Given the description of an element on the screen output the (x, y) to click on. 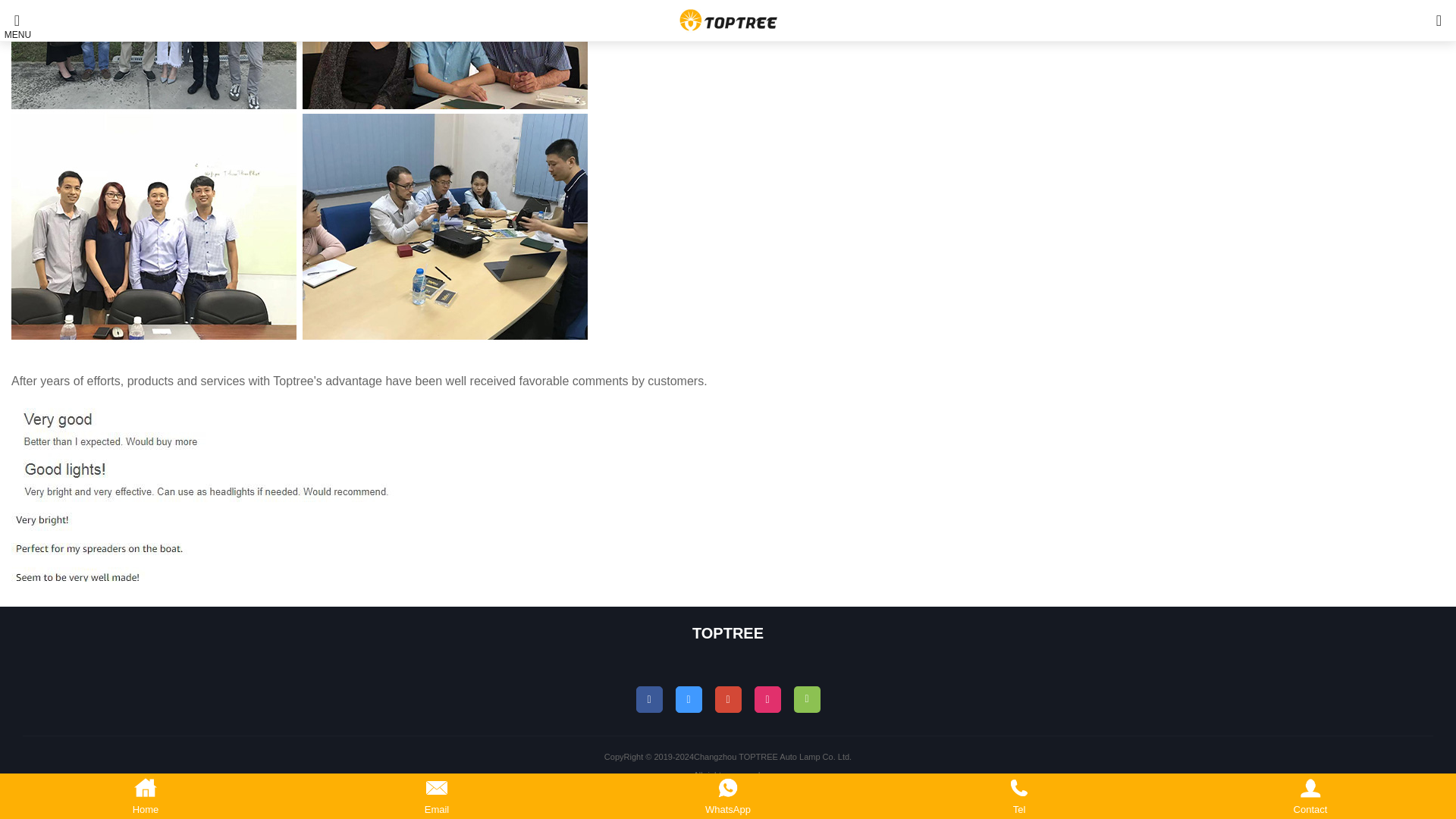
7641557387183525.jpg (226, 477)
832155738718992.jpg (243, 543)
2111557387177470.jpg (282, 422)
